Given the description of an element on the screen output the (x, y) to click on. 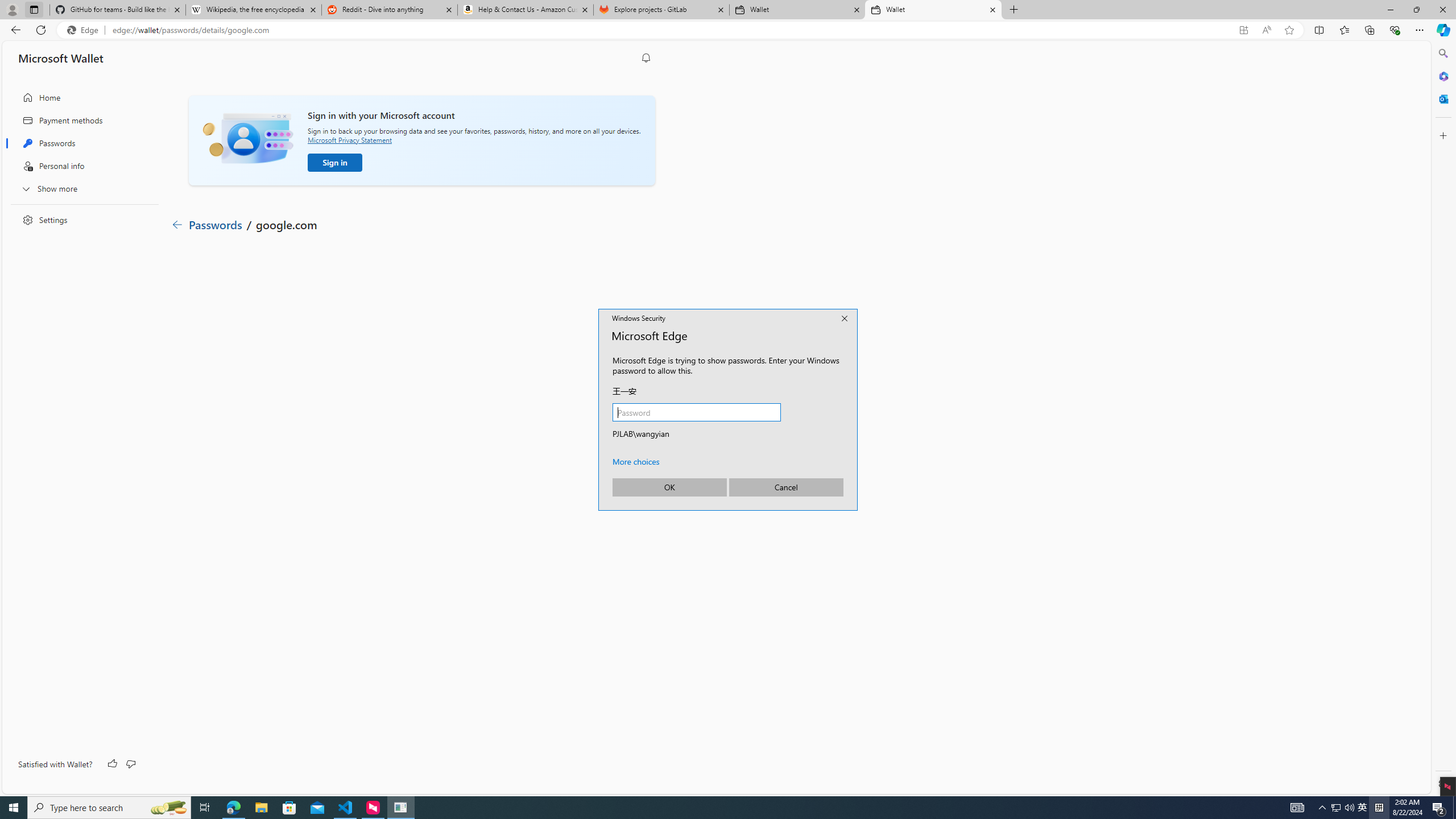
Notification (646, 58)
Add a payment method (274, 391)
Microsoft Store (289, 807)
Q2790: 100% (1349, 807)
Notification Chevron (1362, 807)
Memberships - 0 available (1322, 807)
Microsoft Edge - 1 running window (391, 326)
Wikipedia, the free encyclopedia (233, 807)
